Given the description of an element on the screen output the (x, y) to click on. 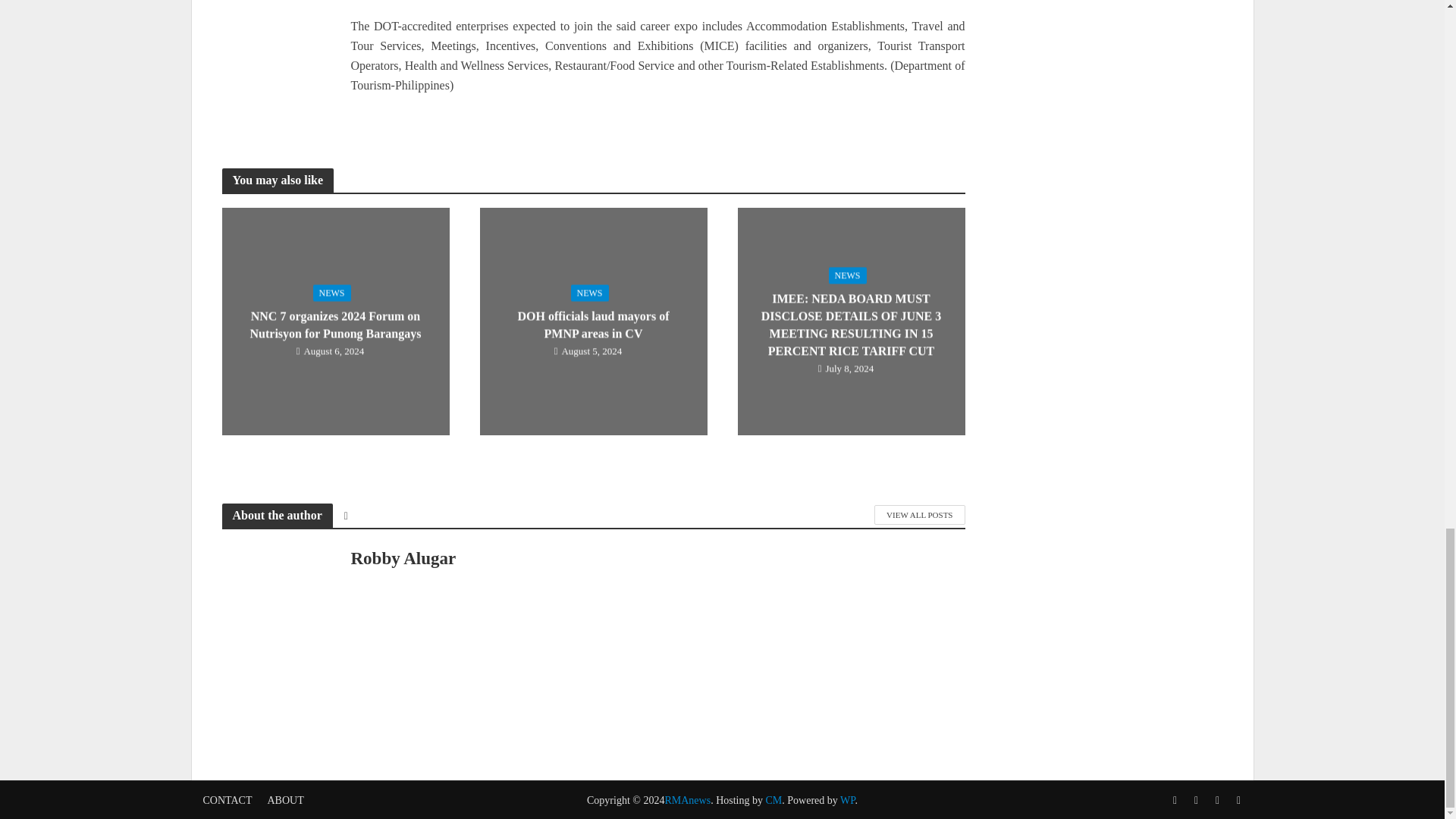
NNC 7 organizes 2024 Forum on Nutrisyon for Punong Barangays (334, 319)
DOH officials laud mayors of PMNP areas in CV (592, 319)
